Given the description of an element on the screen output the (x, y) to click on. 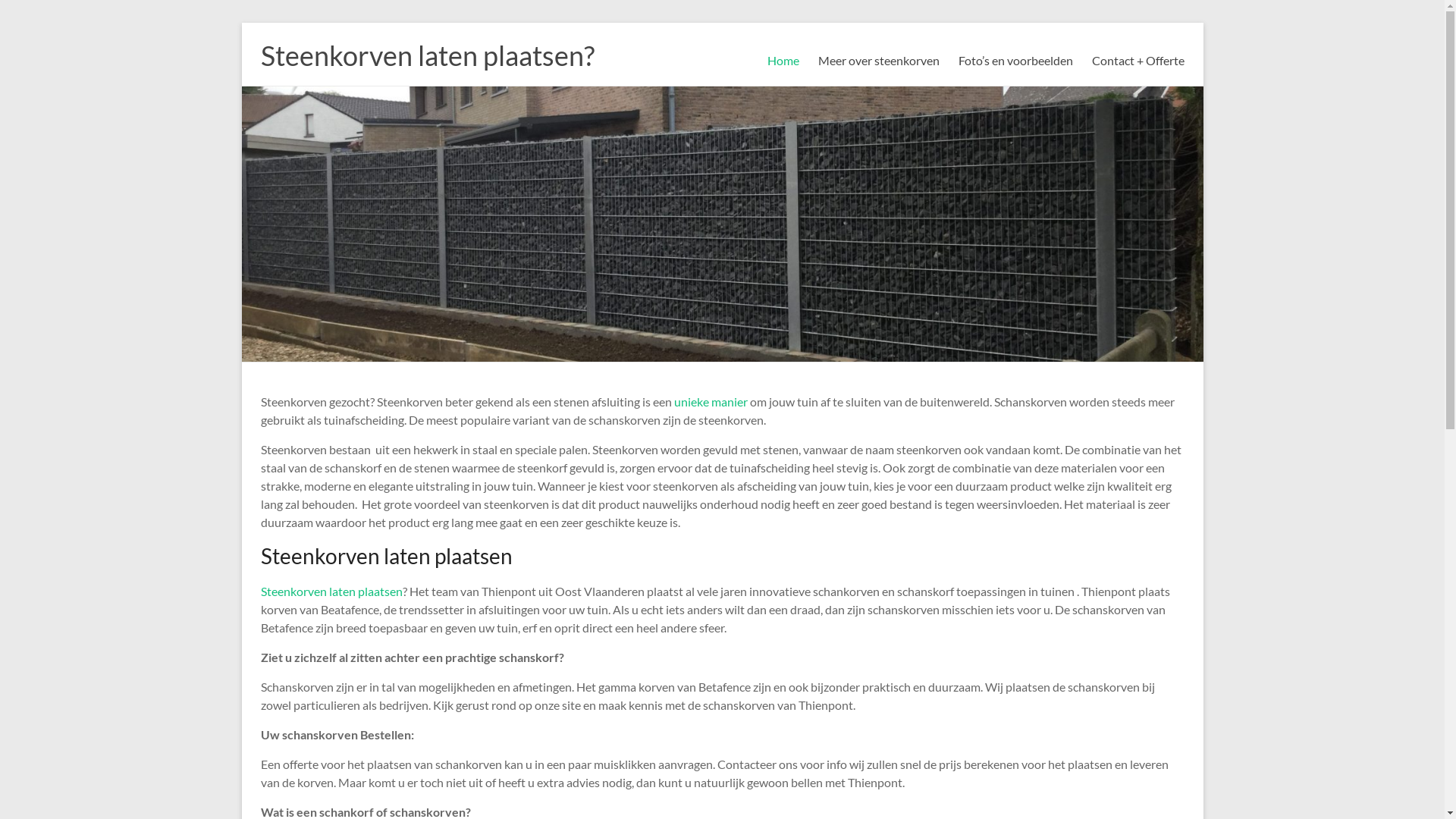
unieke manier Element type: text (709, 401)
Skip to content Element type: text (241, 21)
Contact + Offerte Element type: text (1138, 60)
Steenkorven laten plaatsen? Element type: text (427, 55)
Steenkorven laten plaatsen Element type: text (331, 590)
Home Element type: text (783, 60)
Meer over steenkorven Element type: text (877, 60)
